Given the description of an element on the screen output the (x, y) to click on. 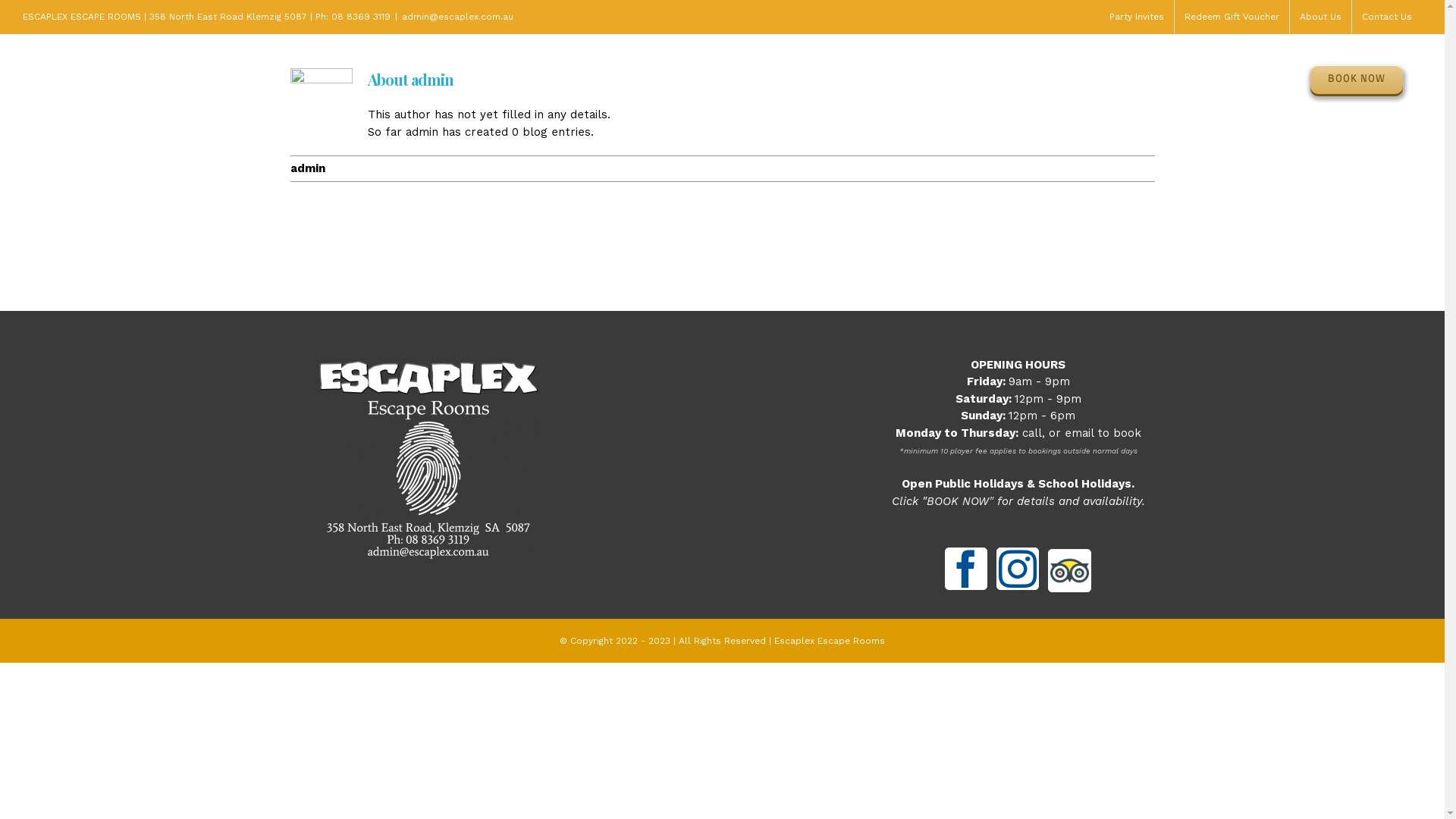
BOOK NOW Element type: text (957, 501)
Contact Us Element type: text (1386, 16)
GIFT VOUCHERS Element type: text (1171, 79)
admin@escaplex.com.au Element type: text (457, 16)
BOOK NOW Element type: text (1356, 79)
Party Invites Element type: text (1136, 16)
Redeem Gift Voucher Element type: text (1231, 16)
Instagram Element type: hover (1017, 568)
About Us Element type: text (1320, 16)
FAQS Element type: text (1271, 79)
Facebook Element type: hover (965, 568)
ROOMS Element type: text (1064, 79)
